Given the description of an element on the screen output the (x, y) to click on. 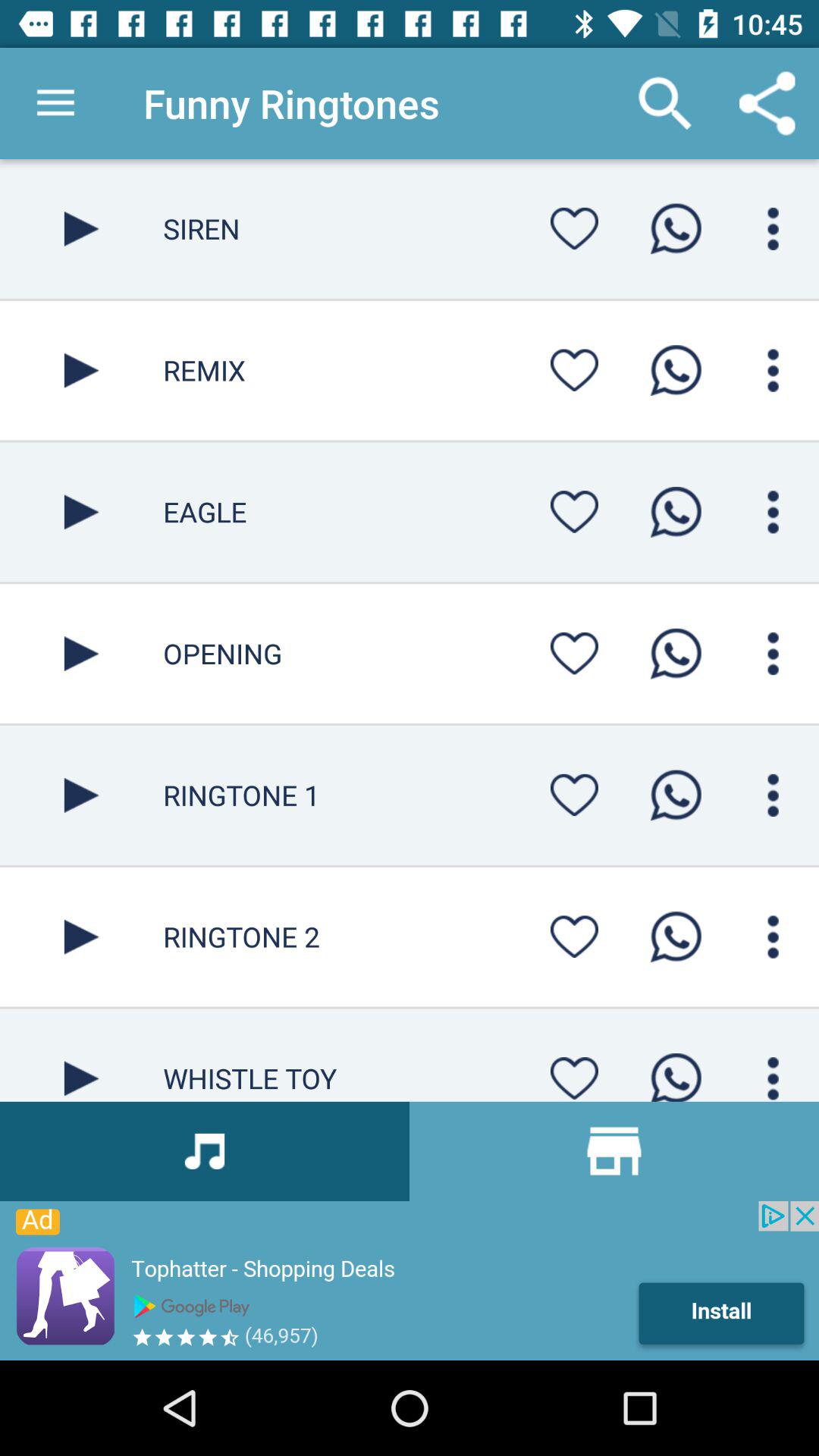
go to left arrow button (81, 228)
